Given the description of an element on the screen output the (x, y) to click on. 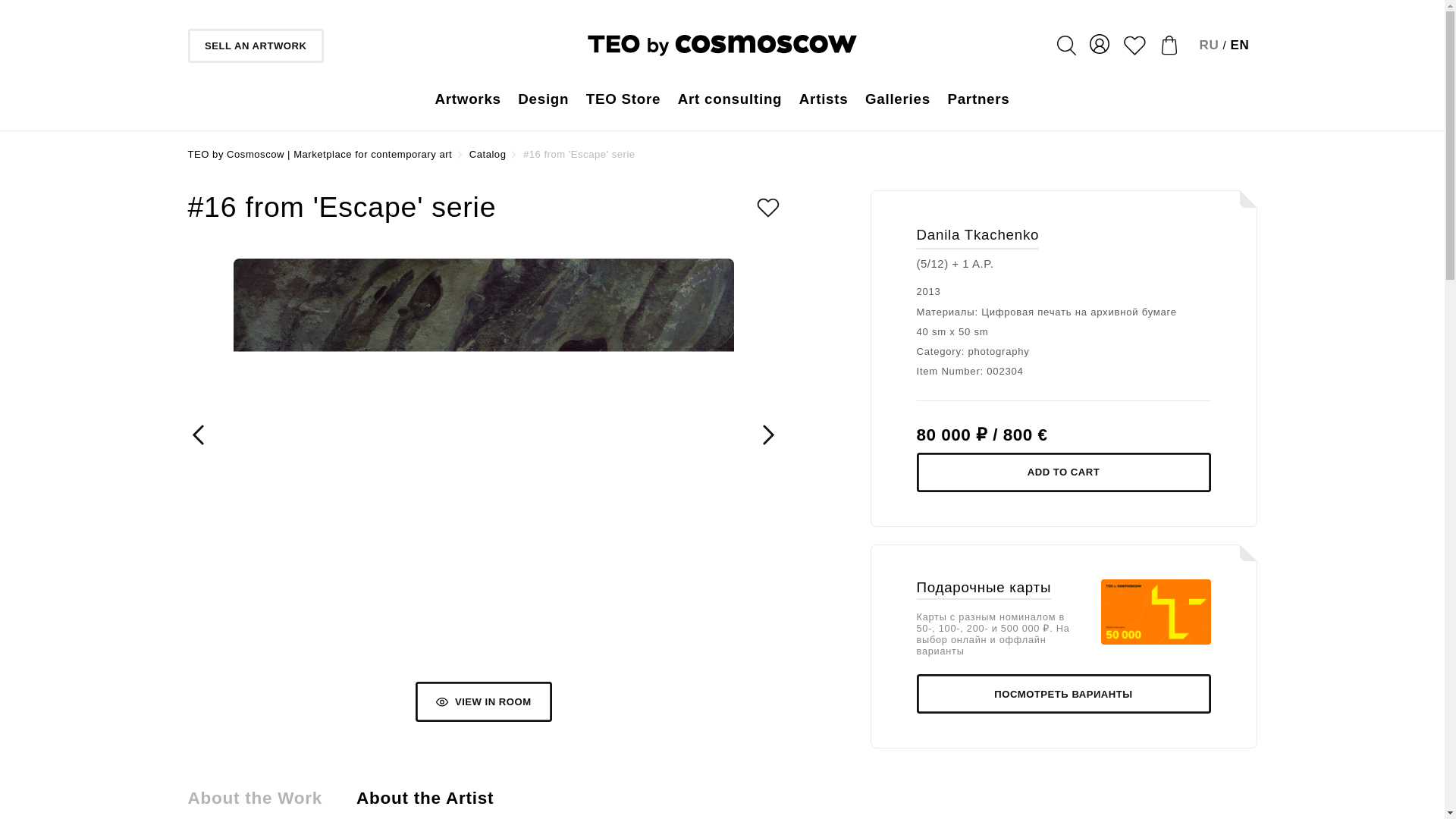
Partners (978, 98)
Catalog (487, 153)
Art consulting (730, 98)
Artists (823, 98)
Artworks (466, 98)
EN (1239, 44)
RU (1209, 44)
Design (543, 98)
TEO Store (623, 98)
SELL AN ARTWORK (255, 45)
